Given the description of an element on the screen output the (x, y) to click on. 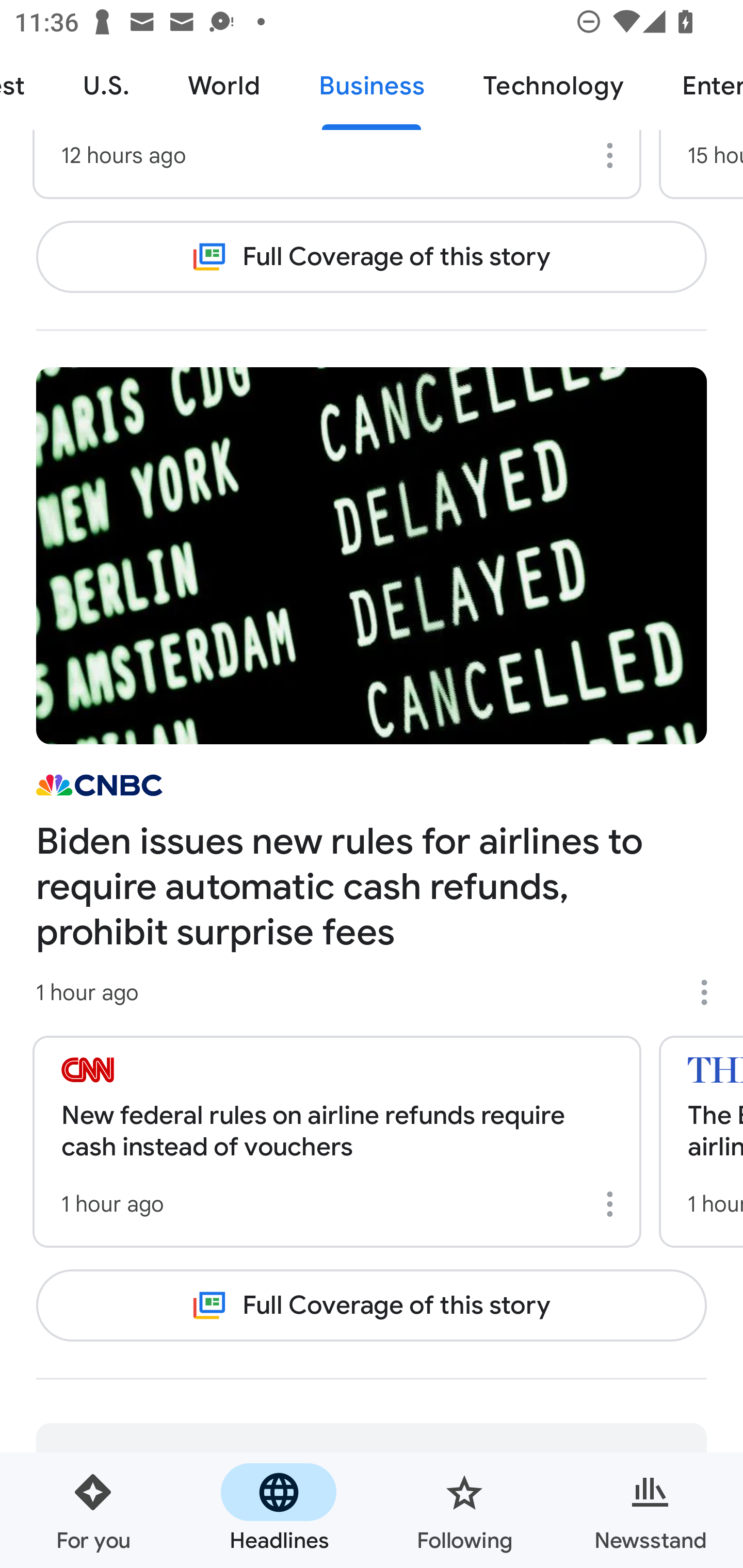
U.S. (106, 86)
World (224, 86)
Technology (552, 86)
More options (613, 155)
Full Coverage of this story (371, 257)
More options (711, 992)
More options (613, 1203)
Full Coverage of this story (371, 1306)
For you (92, 1509)
Headlines (278, 1509)
Following (464, 1509)
Newsstand (650, 1509)
